Given the description of an element on the screen output the (x, y) to click on. 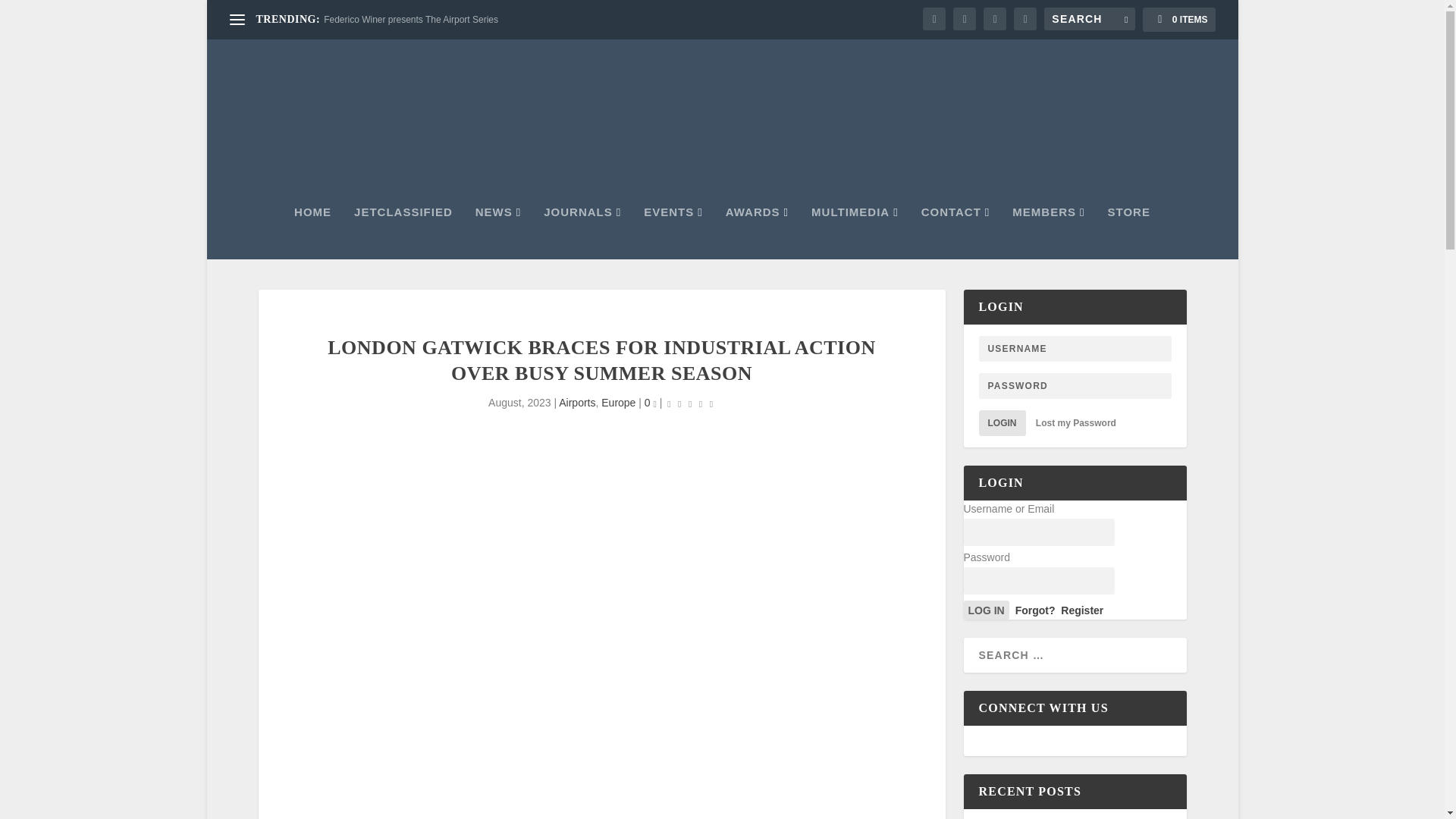
JETCLASSIFIED (402, 232)
Rating: 0.00 (689, 403)
Federico Winer presents The Airport Series (410, 19)
log in (985, 609)
JOURNALS (582, 232)
